Given the description of an element on the screen output the (x, y) to click on. 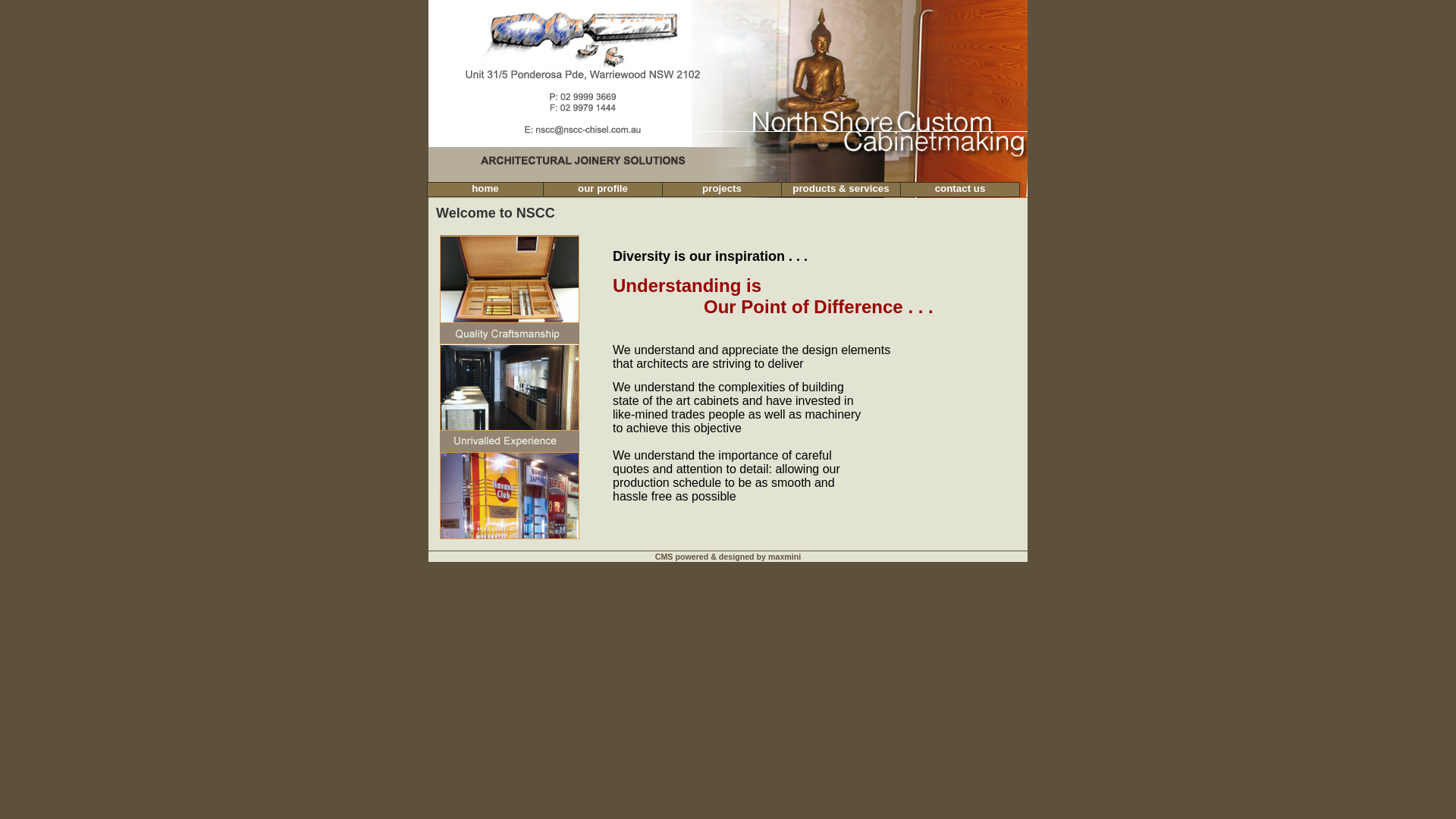
CMS powered & designed by maxmini Element type: text (727, 556)
Click to view North Shore Custom Cabinetmaking Home Element type: hover (727, 170)
